Given the description of an element on the screen output the (x, y) to click on. 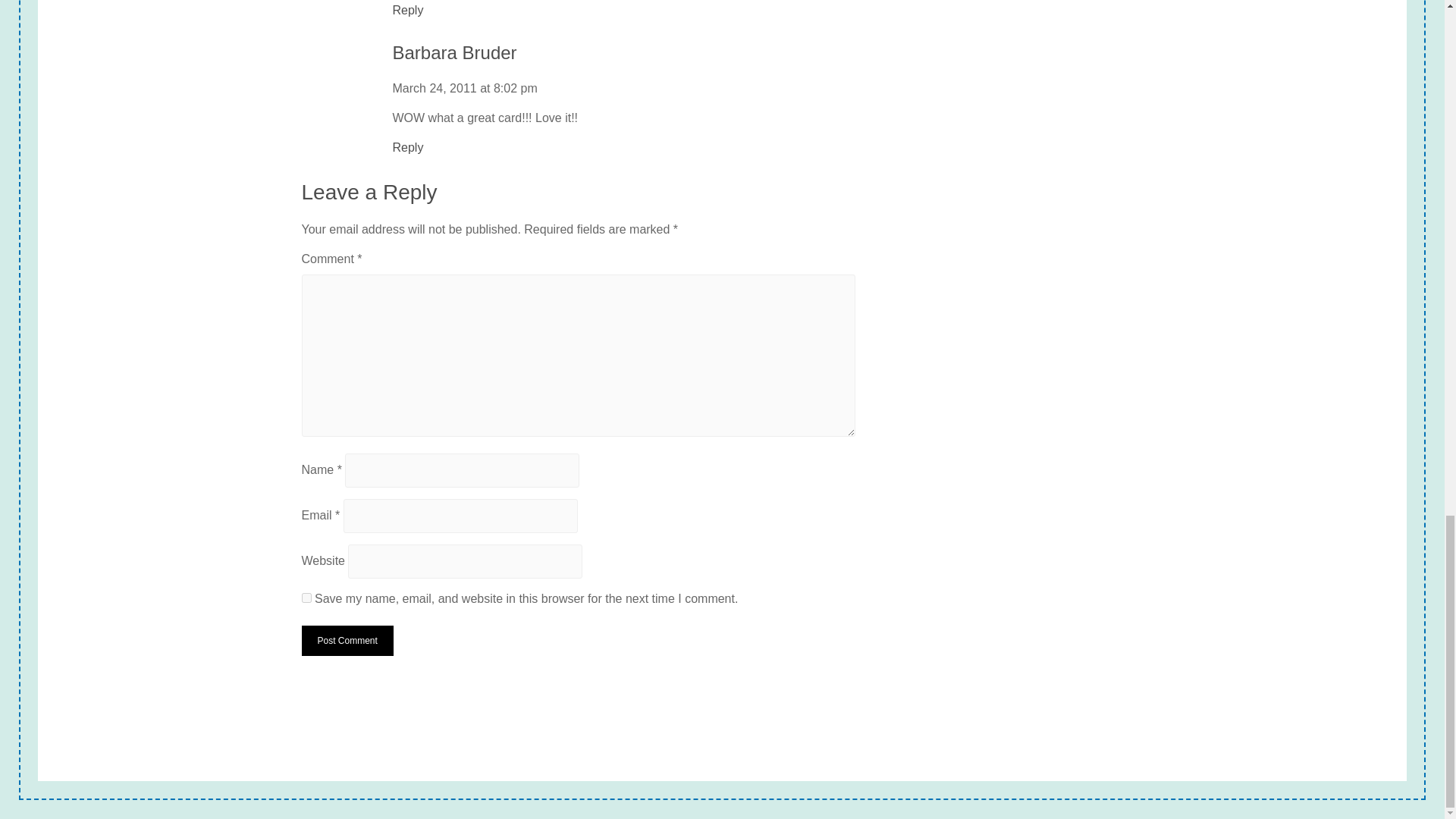
Post Comment (347, 640)
Barbara Bruder (454, 53)
Reply (408, 10)
yes (306, 597)
Post Comment (347, 640)
Reply (408, 147)
